Given the description of an element on the screen output the (x, y) to click on. 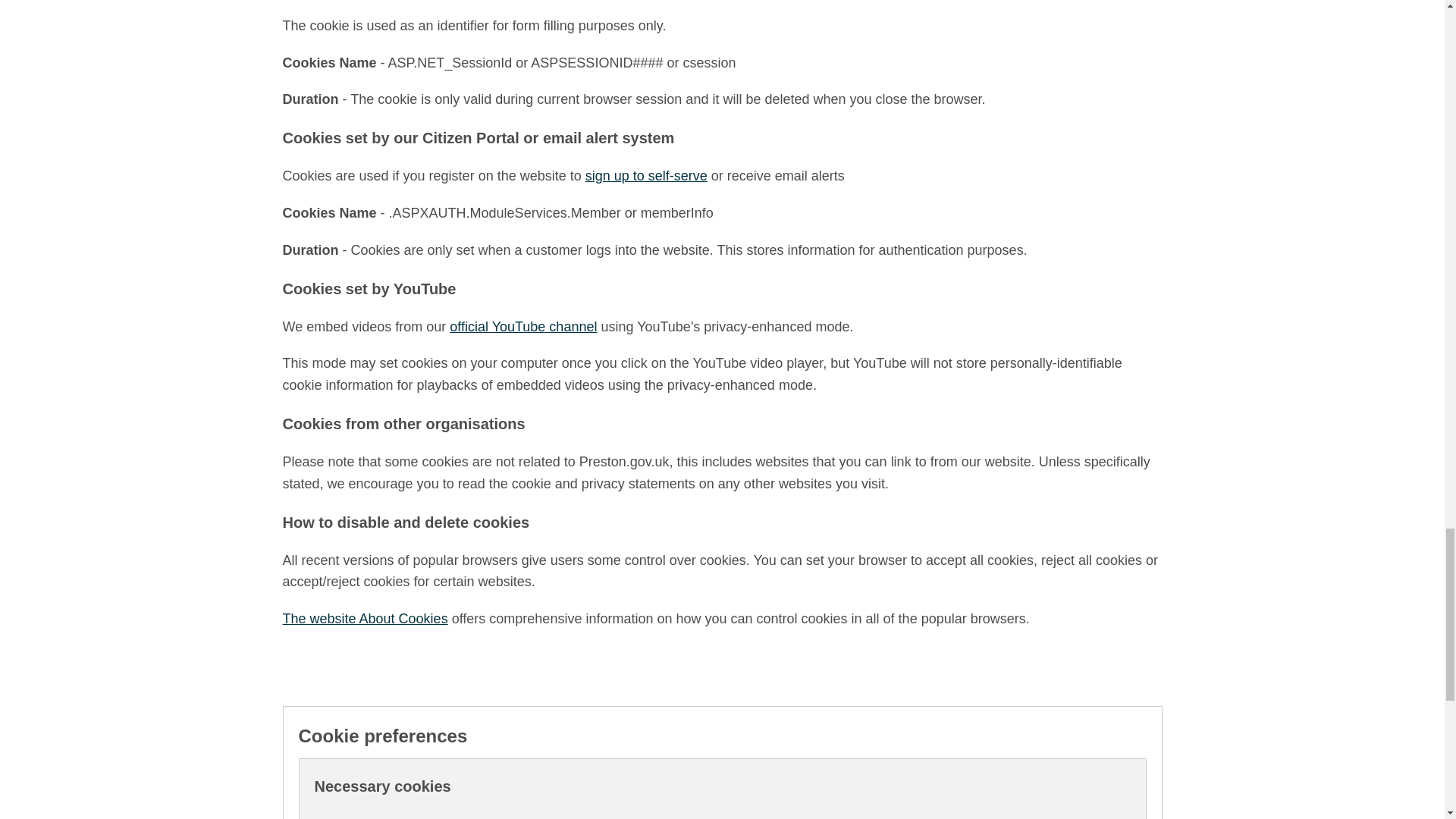
sign up to self-serve (646, 175)
The website About Cookies (364, 618)
official YouTube channel (522, 326)
